Given the description of an element on the screen output the (x, y) to click on. 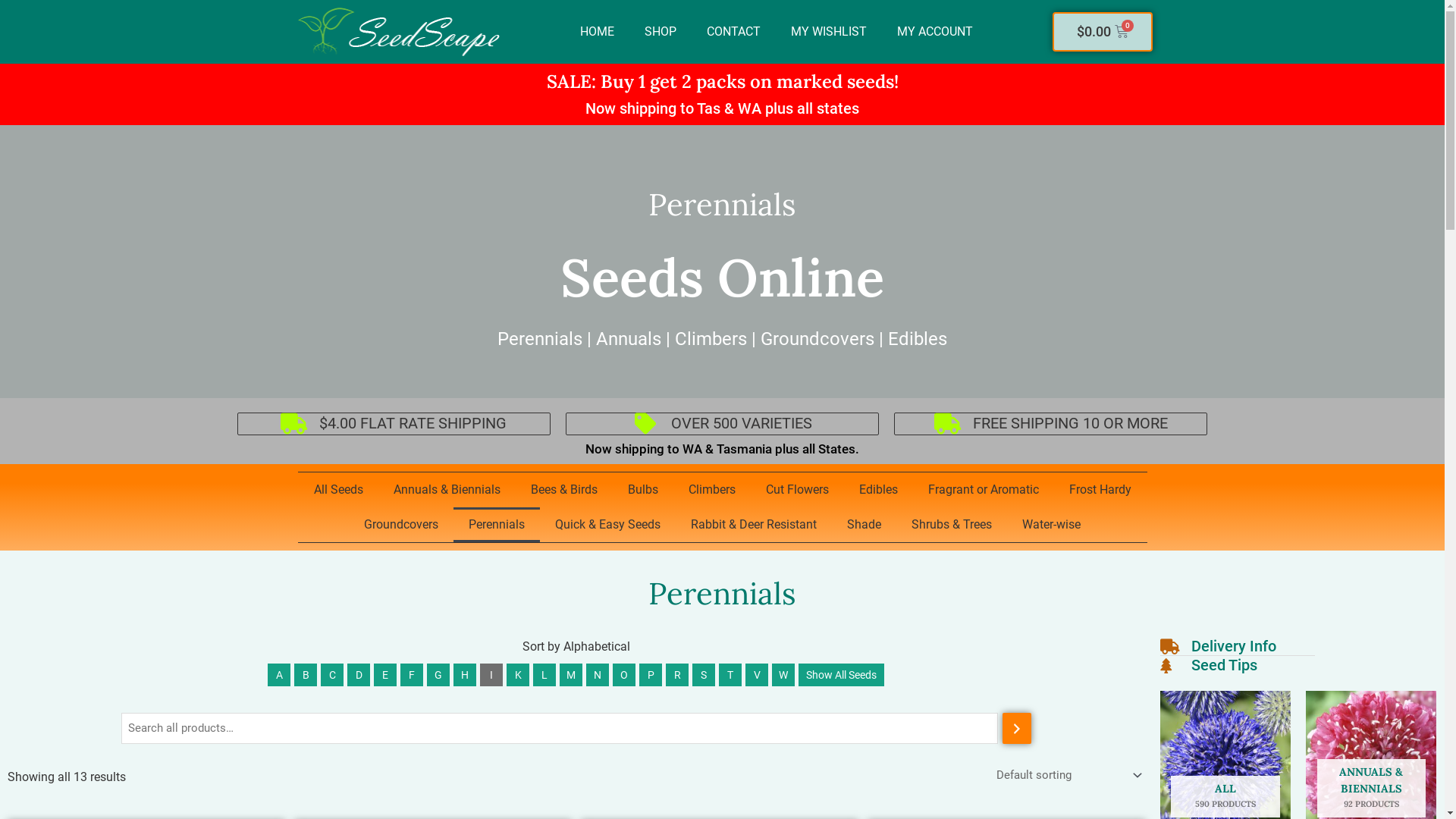
D Element type: text (358, 674)
Shrubs & Trees Element type: text (951, 524)
I Element type: text (491, 674)
SHOP Element type: text (660, 31)
C Element type: text (331, 674)
Bees & Birds Element type: text (563, 489)
M Element type: text (570, 674)
MY ACCOUNT Element type: text (934, 31)
Cut Flowers Element type: text (797, 489)
CONTACT Element type: text (733, 31)
O Element type: text (623, 674)
E Element type: text (384, 674)
Groundcovers Element type: text (400, 524)
Annuals & Biennials Element type: text (445, 489)
All Seeds Element type: text (338, 489)
$0.00
0
CART Element type: text (1102, 31)
HOME Element type: text (596, 31)
F Element type: text (411, 674)
R Element type: text (676, 674)
Frost Hardy Element type: text (1100, 489)
L Element type: text (544, 674)
P Element type: text (650, 674)
Show All Seeds Element type: text (841, 674)
Fragrant or Aromatic Element type: text (983, 489)
Seed Tips Element type: text (1208, 665)
S Element type: text (703, 674)
Quick & Easy Seeds Element type: text (607, 524)
MY WISHLIST Element type: text (828, 31)
K Element type: text (517, 674)
V Element type: text (756, 674)
T Element type: text (729, 674)
Perennials Element type: text (496, 524)
Climbers Element type: text (711, 489)
B Element type: text (305, 674)
G Element type: text (437, 674)
Edibles Element type: text (877, 489)
Delivery Info Element type: text (1218, 646)
Rabbit & Deer Resistant Element type: text (753, 524)
W Element type: text (782, 674)
Shade Element type: text (863, 524)
N Element type: text (597, 674)
H Element type: text (464, 674)
A Element type: text (278, 674)
Water-wise Element type: text (1051, 524)
Bulbs Element type: text (642, 489)
